Given the description of an element on the screen output the (x, y) to click on. 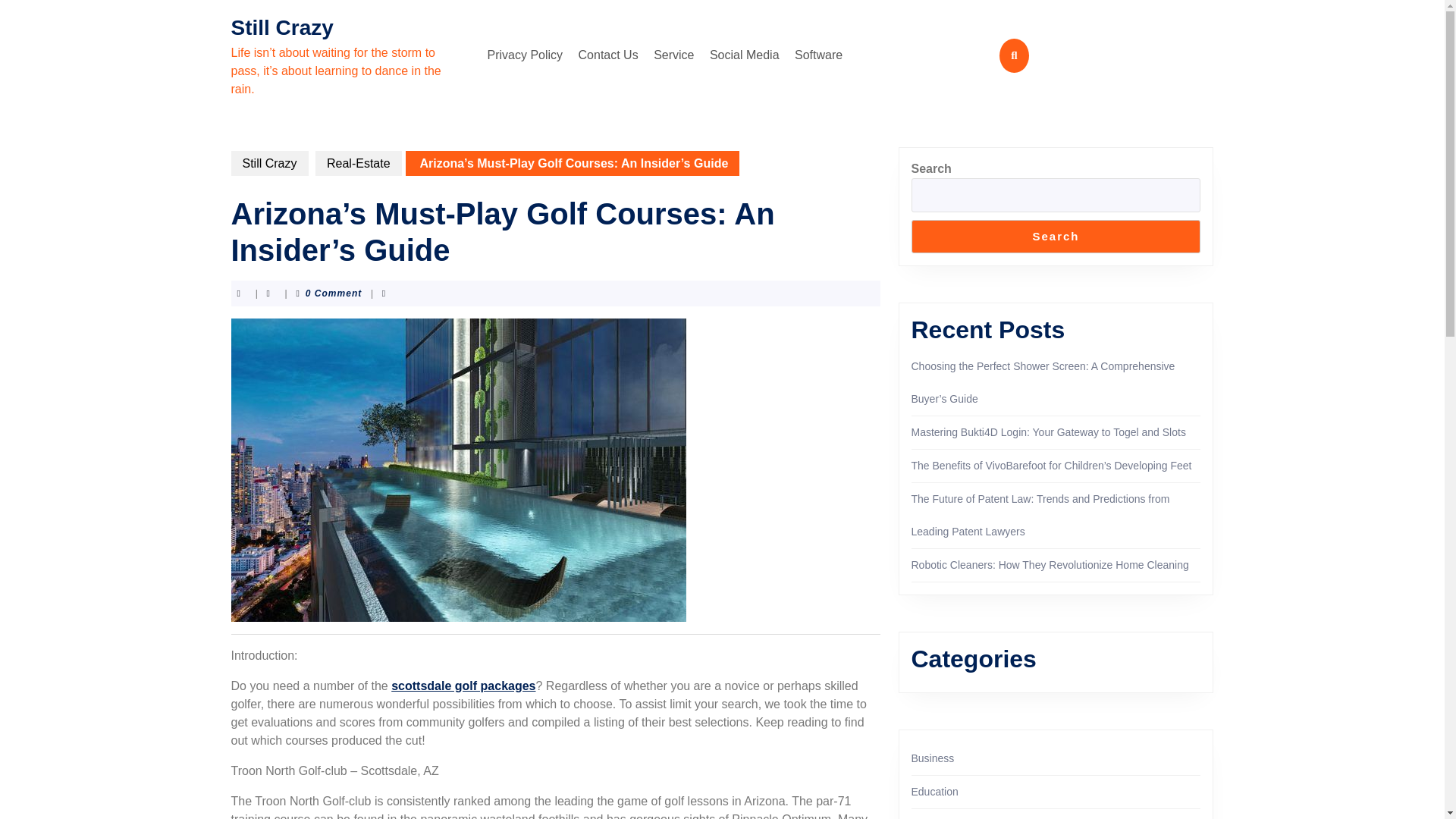
Robotic Cleaners: How They Revolutionize Home Cleaning (1050, 564)
Contact Us (608, 55)
Real-Estate (358, 163)
Mastering Bukti4D Login: Your Gateway to Togel and Slots (1048, 431)
Still Crazy (268, 163)
Search (1056, 236)
Software (818, 55)
Social Media (744, 55)
scottsdale golf packages (463, 685)
Business (933, 758)
Service (673, 55)
Education (934, 791)
Privacy Policy (524, 55)
Still Crazy (281, 27)
